Given the description of an element on the screen output the (x, y) to click on. 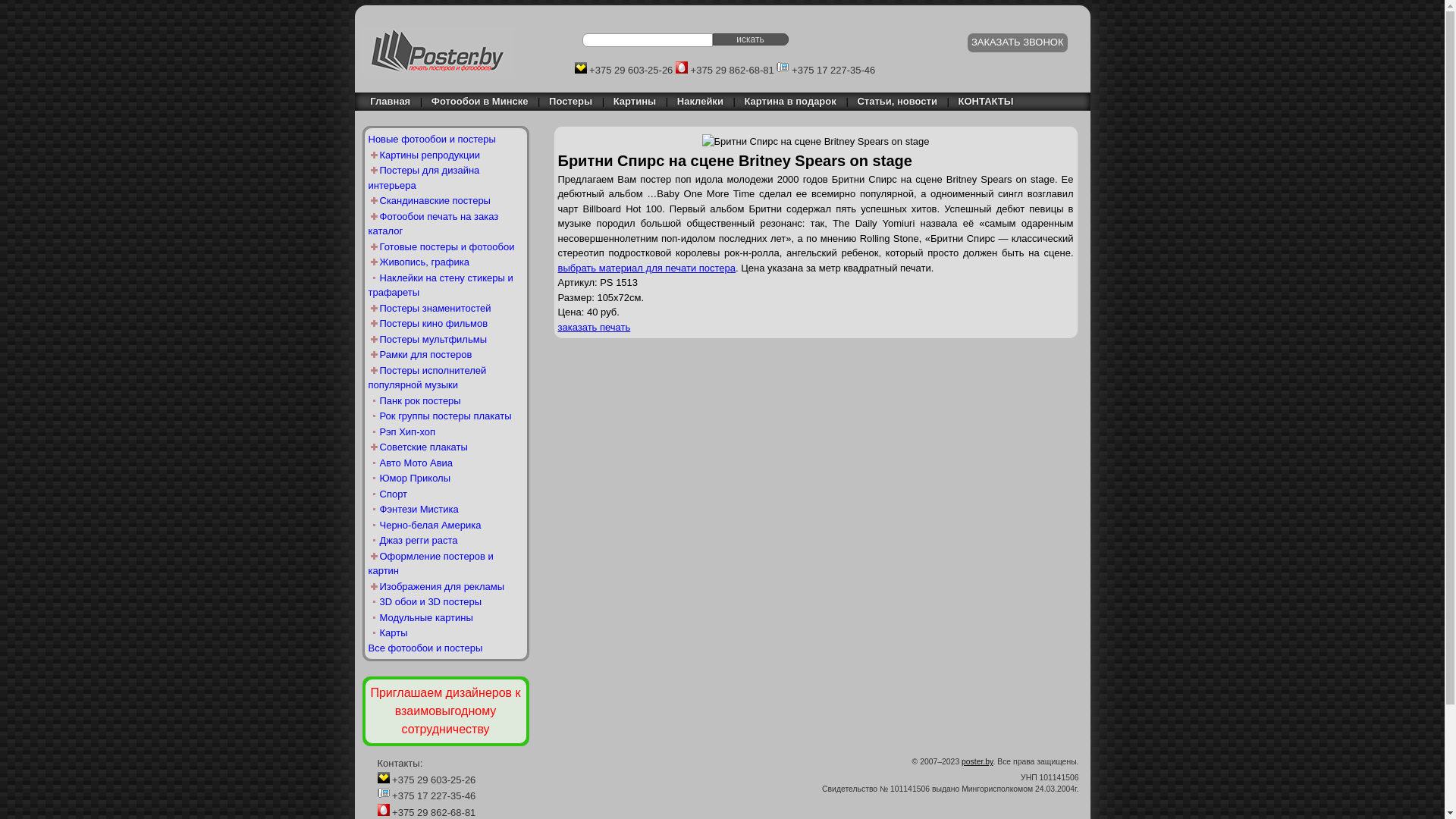
Velcom Element type: hover (580, 66)
Velcom Element type: hover (383, 776)
poster.by Element type: text (976, 761)
